Given the description of an element on the screen output the (x, y) to click on. 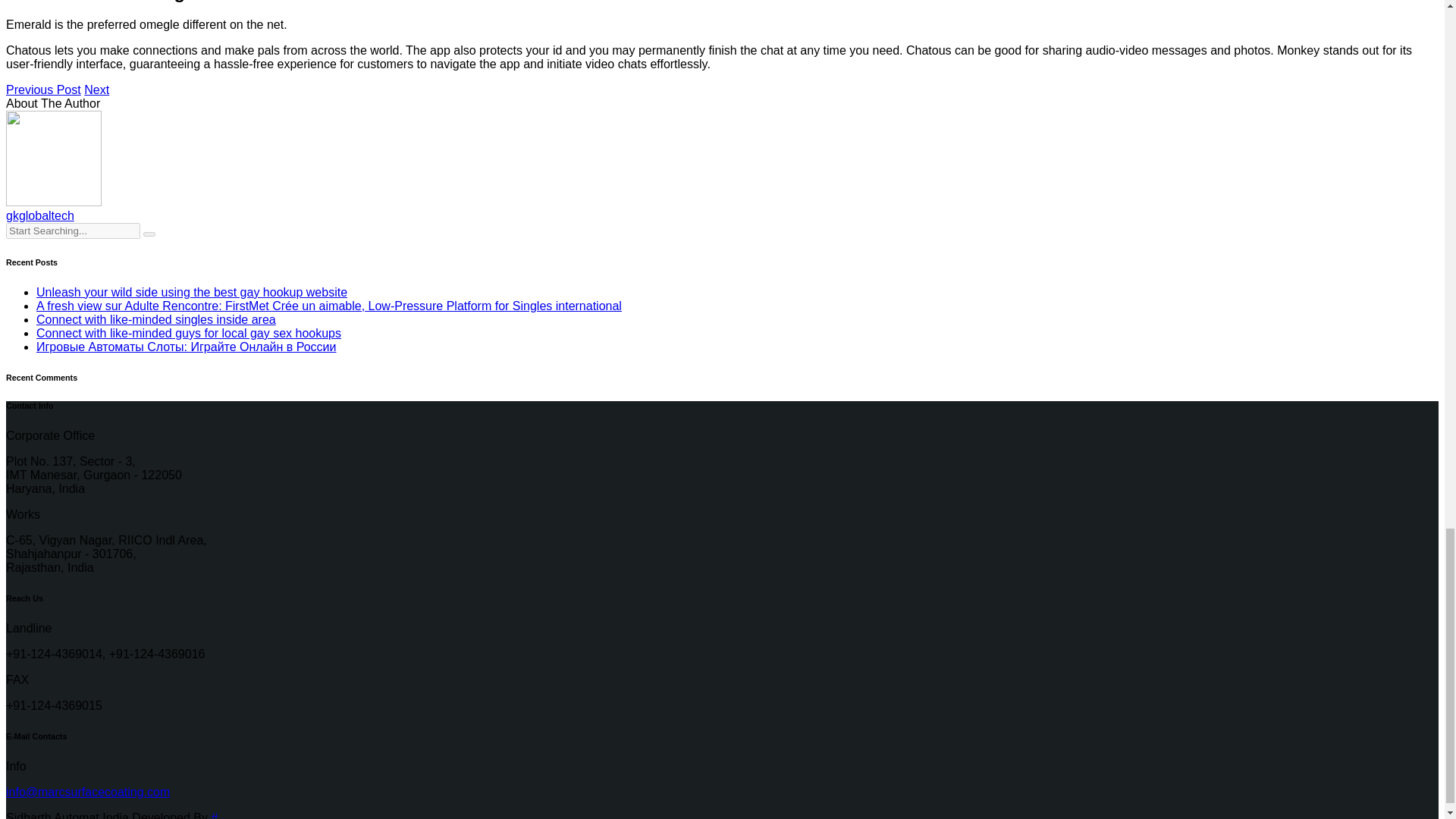
Connect with like-minded guys for local gay sex hookups (188, 332)
Previous Post (43, 89)
gkglobaltech (39, 215)
Connect with like-minded singles inside area (156, 318)
Unleash your wild side using the best gay hookup website (191, 291)
Next (96, 89)
